Given the description of an element on the screen output the (x, y) to click on. 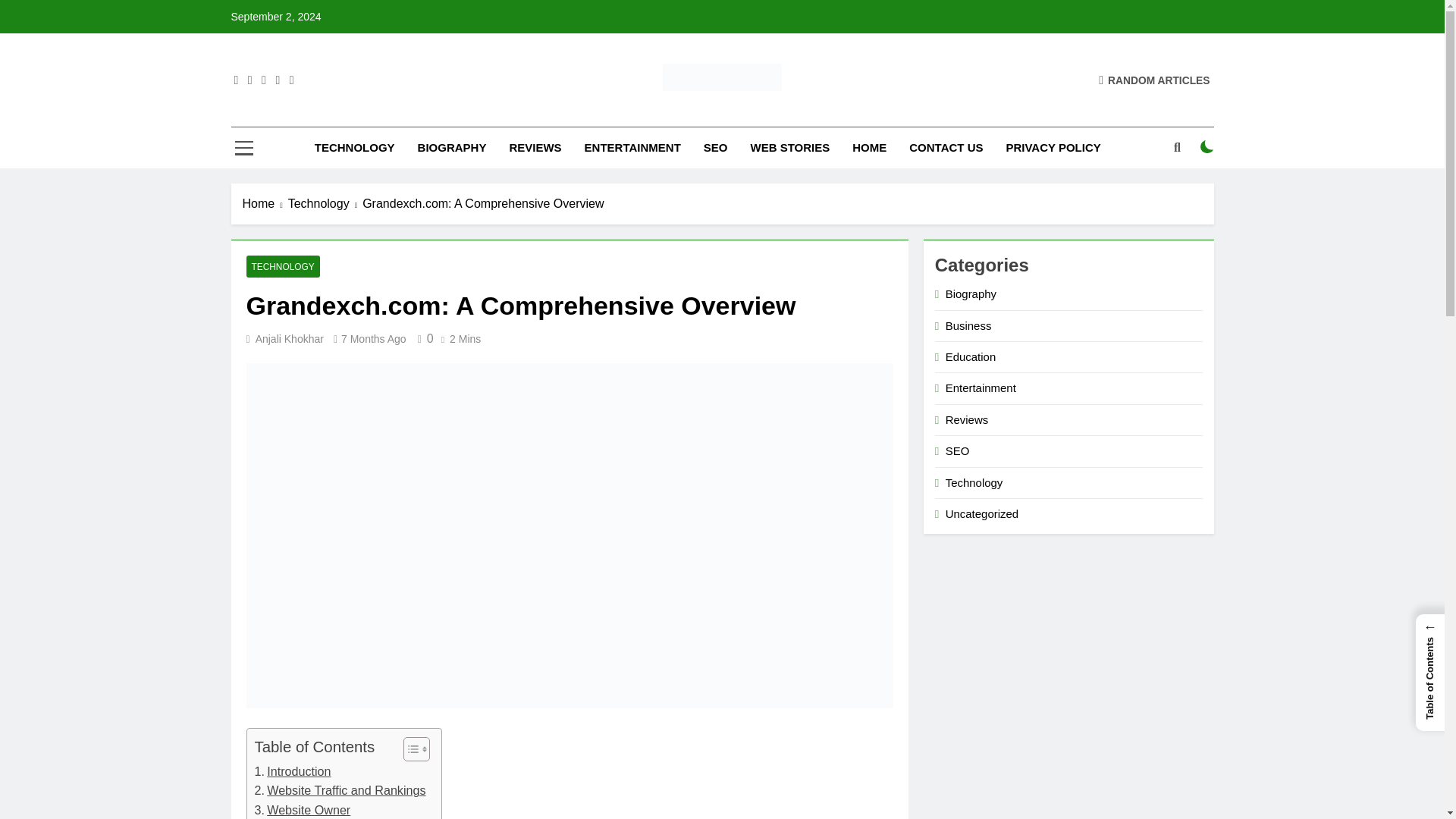
ENTERTAINMENT (633, 147)
BIOGRAPHY (451, 147)
Technology (325, 203)
Introduction (292, 772)
REVIEWS (534, 147)
Home (265, 203)
Blogg (522, 112)
WEB STORIES (789, 147)
on (1206, 146)
HOME (869, 147)
